Given the description of an element on the screen output the (x, y) to click on. 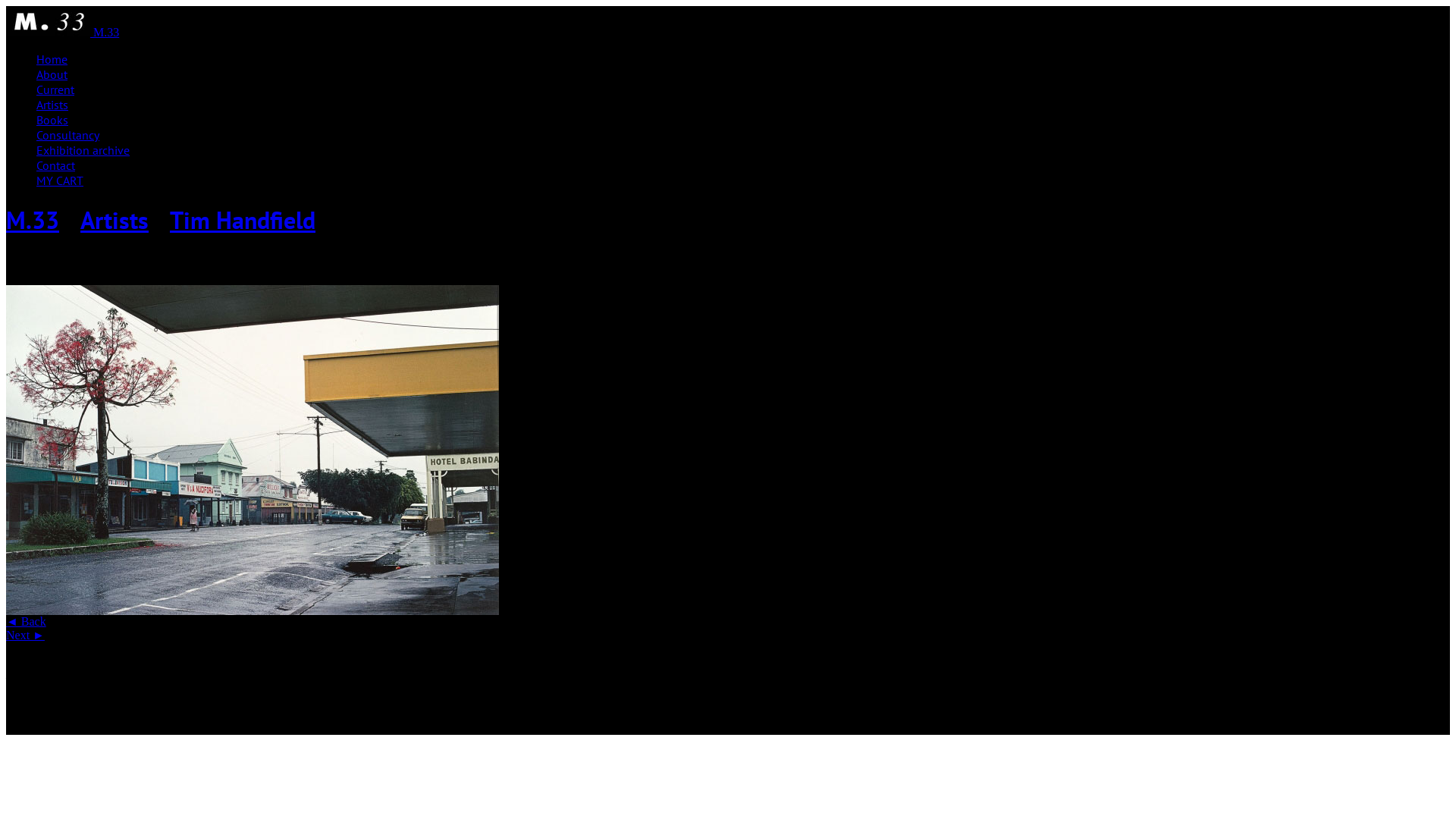
Contact Element type: text (55, 164)
M.33 Element type: hover (49, 31)
About Element type: text (51, 73)
Exhibition archive Element type: text (82, 149)
Current Element type: text (55, 89)
M.33 Element type: text (32, 219)
MY CART Element type: text (59, 180)
Consultancy Element type: text (67, 134)
Artists Element type: text (114, 219)
Books Element type: text (52, 119)
Tim Handfield Element type: text (242, 219)
Home Element type: text (51, 58)
Artists Element type: text (52, 104)
Australia 1980 - 1988 1 Element type: hover (252, 450)
M.33 Element type: text (106, 31)
